Given the description of an element on the screen output the (x, y) to click on. 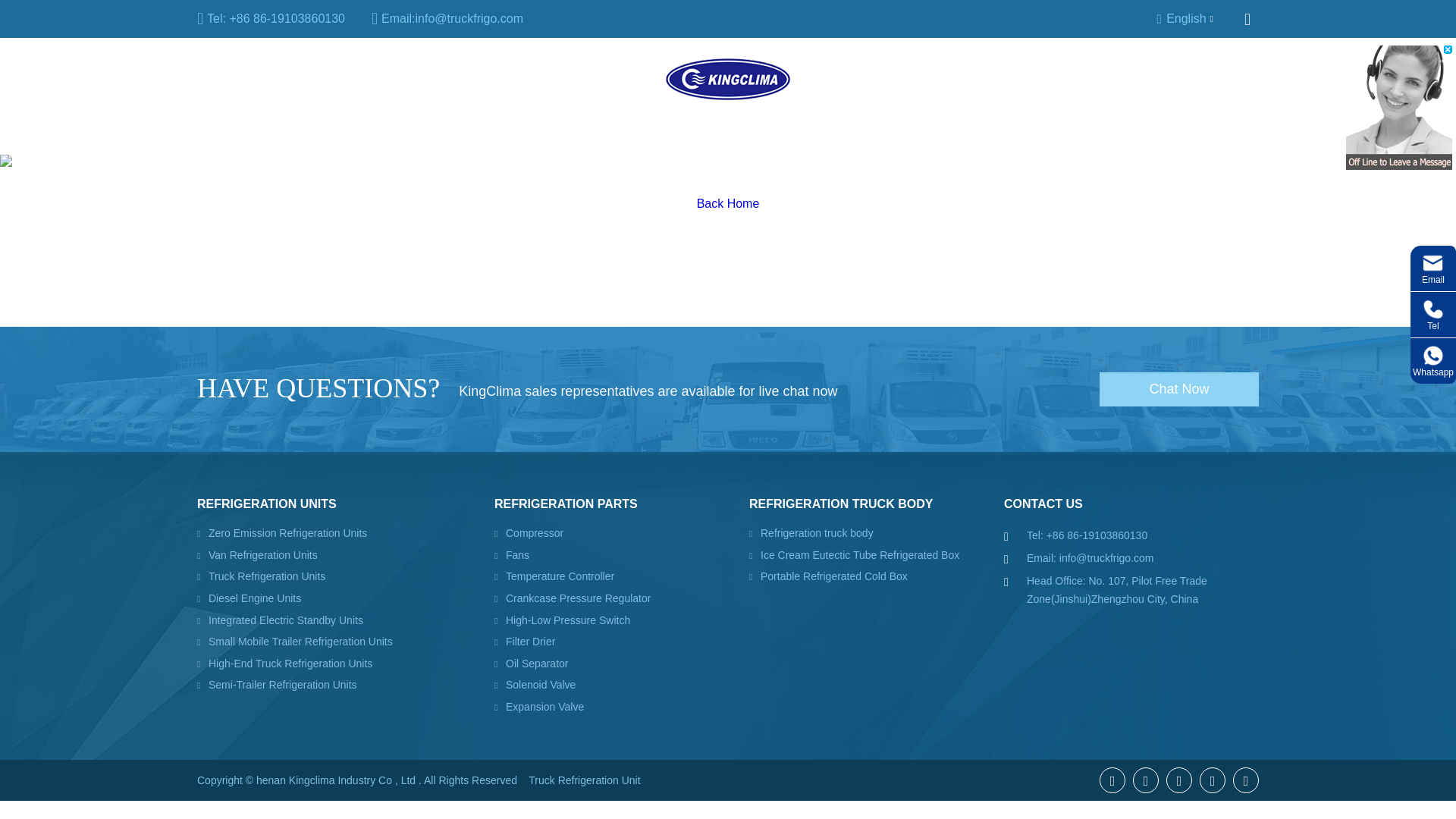
Solution (991, 79)
Refrigeration parts (389, 79)
Refrigeration truck body (547, 79)
Refrigeration units (245, 79)
About us (867, 79)
